Given the description of an element on the screen output the (x, y) to click on. 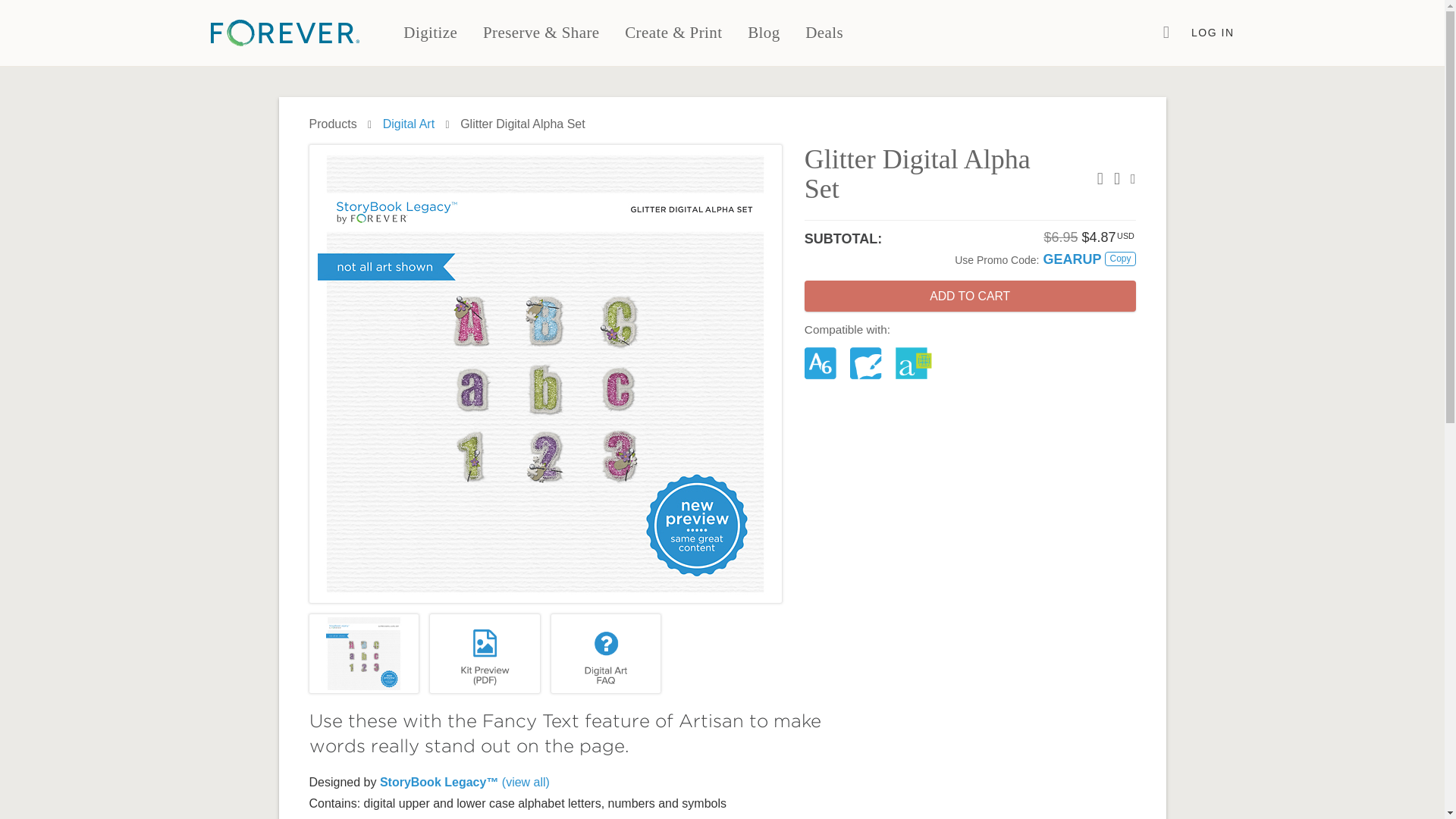
Deals (824, 33)
LOG IN (1212, 32)
Glitter Digital Alpha Set PDF Preview (484, 653)
Compatible with Artisan 5 (868, 363)
Digital Scrapbooking Art FAQ (605, 653)
Glitter Digital Alpha Set PDF Preview (484, 653)
Glitter Digital Alpha Set (363, 653)
Glitter Digital Alpha Set (363, 653)
Digital Art (407, 123)
